Given the description of an element on the screen output the (x, y) to click on. 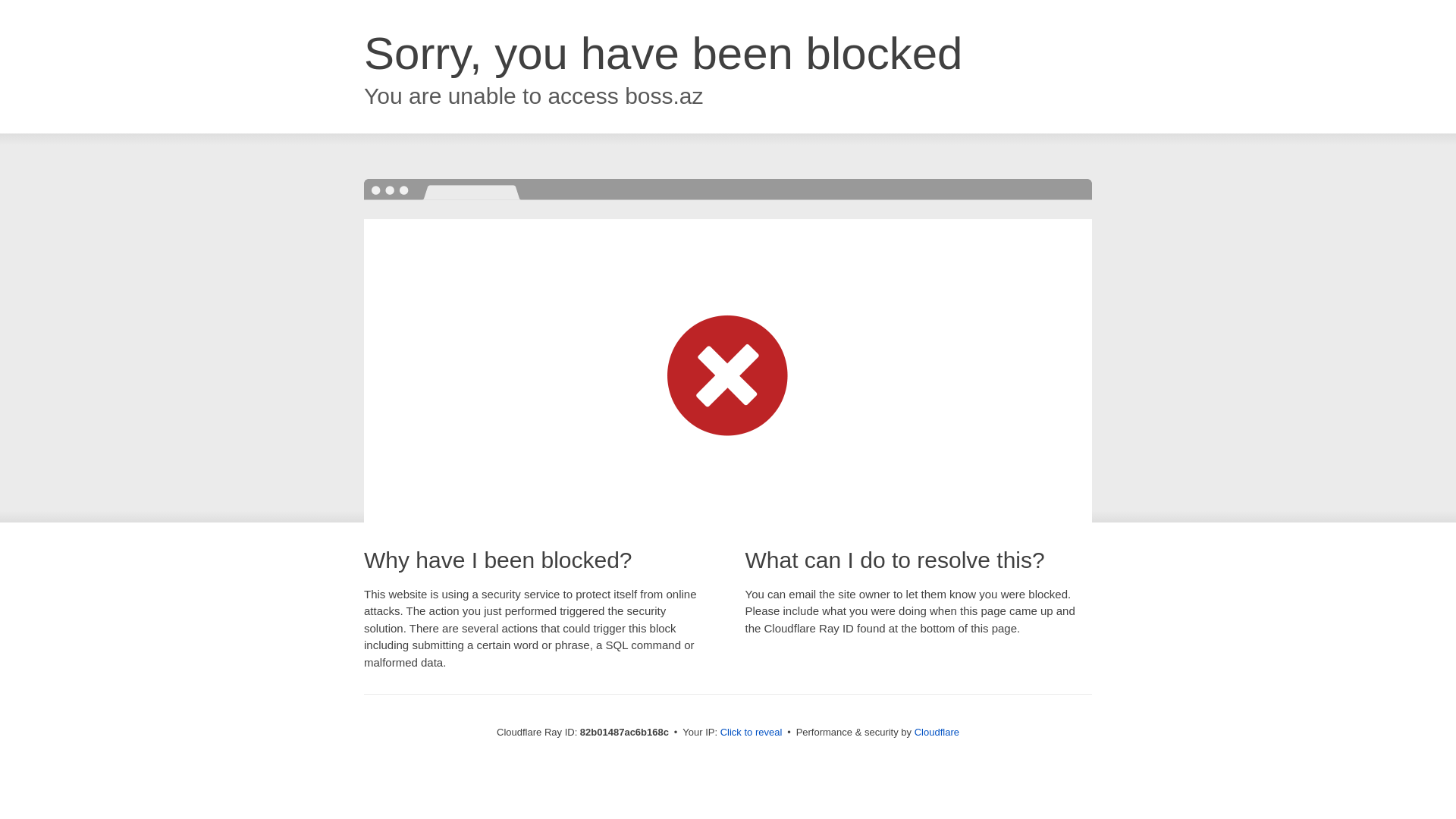
Click to reveal Element type: text (751, 732)
Cloudflare Element type: text (936, 731)
